Given the description of an element on the screen output the (x, y) to click on. 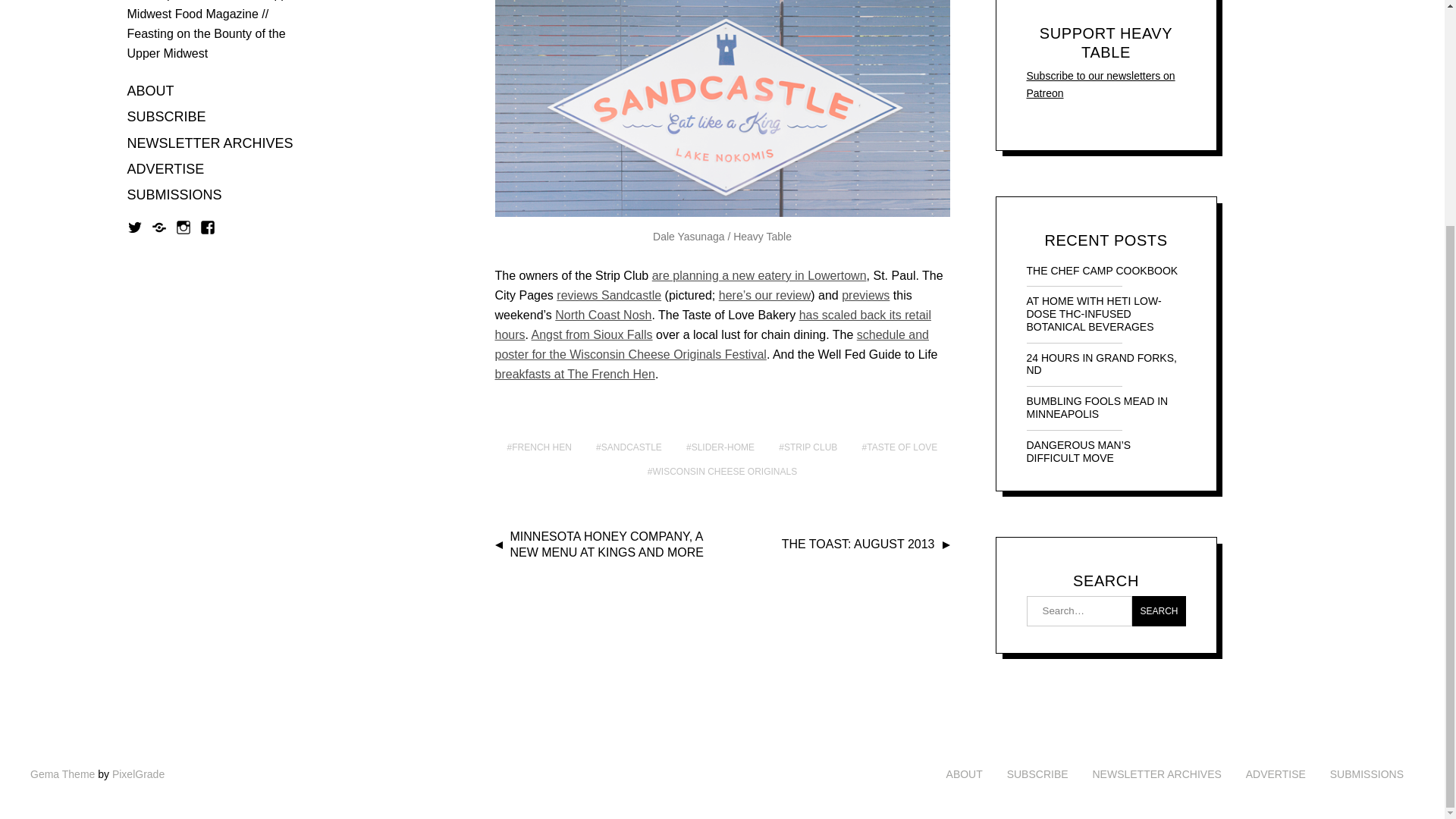
ADVERTISE (166, 169)
North Coast Nosh (602, 314)
Angst from Sioux Falls (591, 334)
TASTE OF LOVE (899, 447)
are planning a new eatery in Lowertown (759, 275)
The PixelGrade Website (138, 774)
SLIDER-HOME (719, 447)
SUBMISSIONS (175, 196)
MINNESOTA HONEY COMPANY, A NEW MENU AT KINGS AND MORE (606, 543)
previews (865, 295)
STRIP CLUB (807, 447)
NEWSLETTER ARCHIVES (211, 144)
GEMA - A Journal-Inspired WordPress Theme (62, 774)
SUBSCRIBE (167, 118)
